Given the description of an element on the screen output the (x, y) to click on. 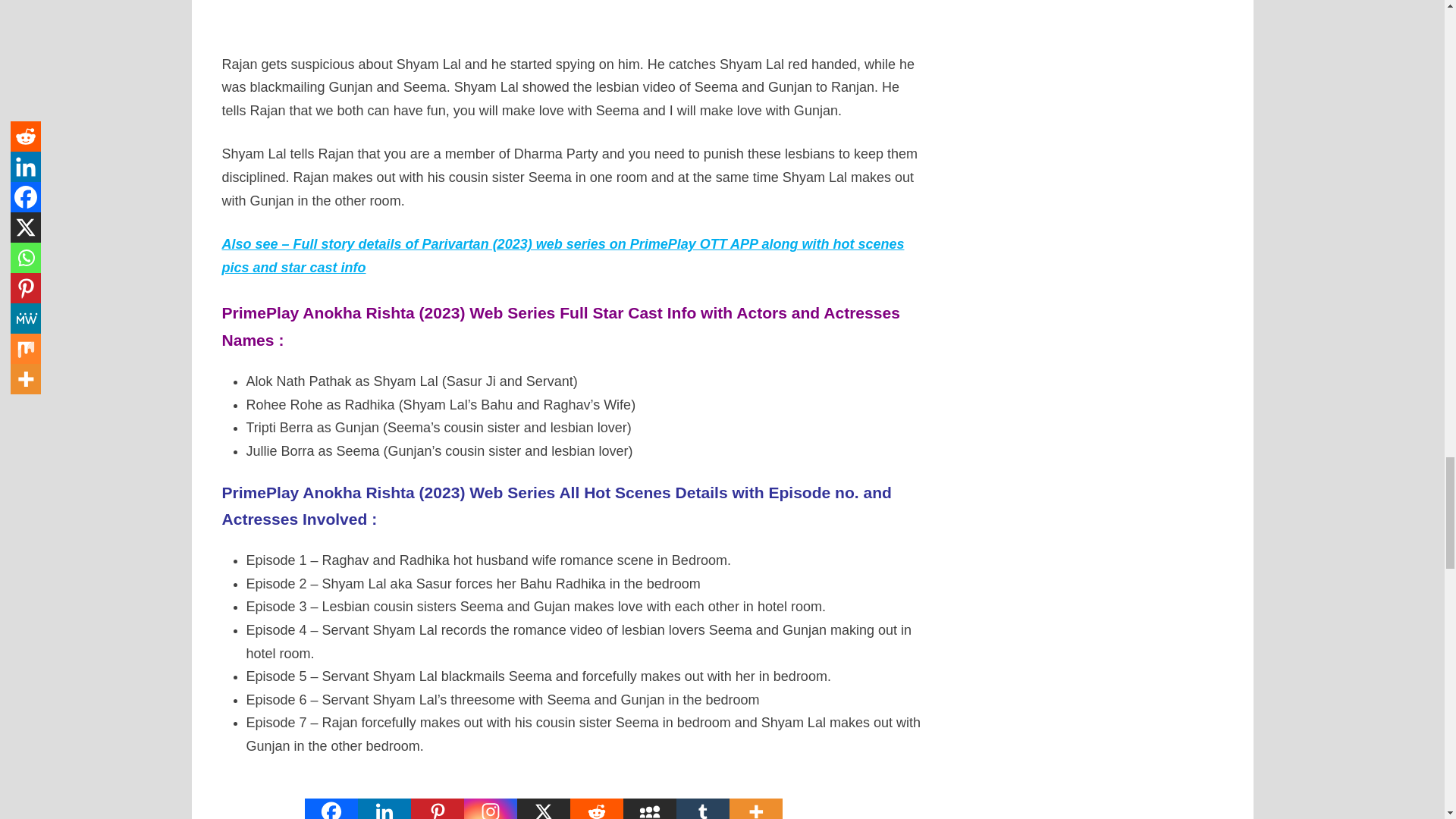
More (756, 796)
Pinterest (437, 796)
Linkedin (384, 796)
X (543, 796)
MySpace (650, 796)
Facebook (331, 796)
Reddit (596, 796)
Instagram (490, 796)
Tumblr (703, 796)
